Given the description of an element on the screen output the (x, y) to click on. 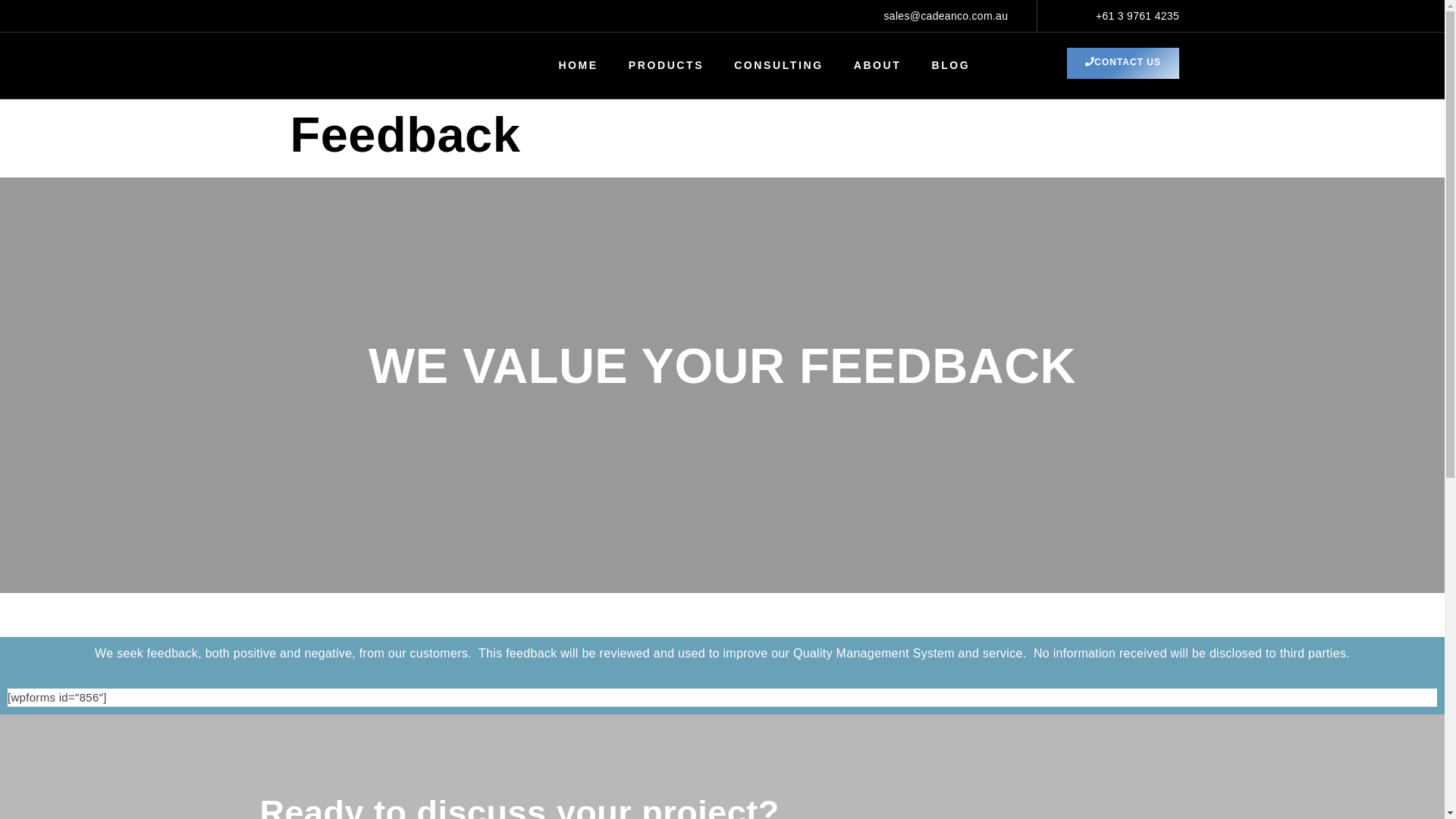
CONSULTING (778, 65)
CONTACT US (1123, 62)
PRODUCTS (665, 65)
ABOUT (877, 65)
BLOG (950, 65)
HOME (577, 65)
